Given the description of an element on the screen output the (x, y) to click on. 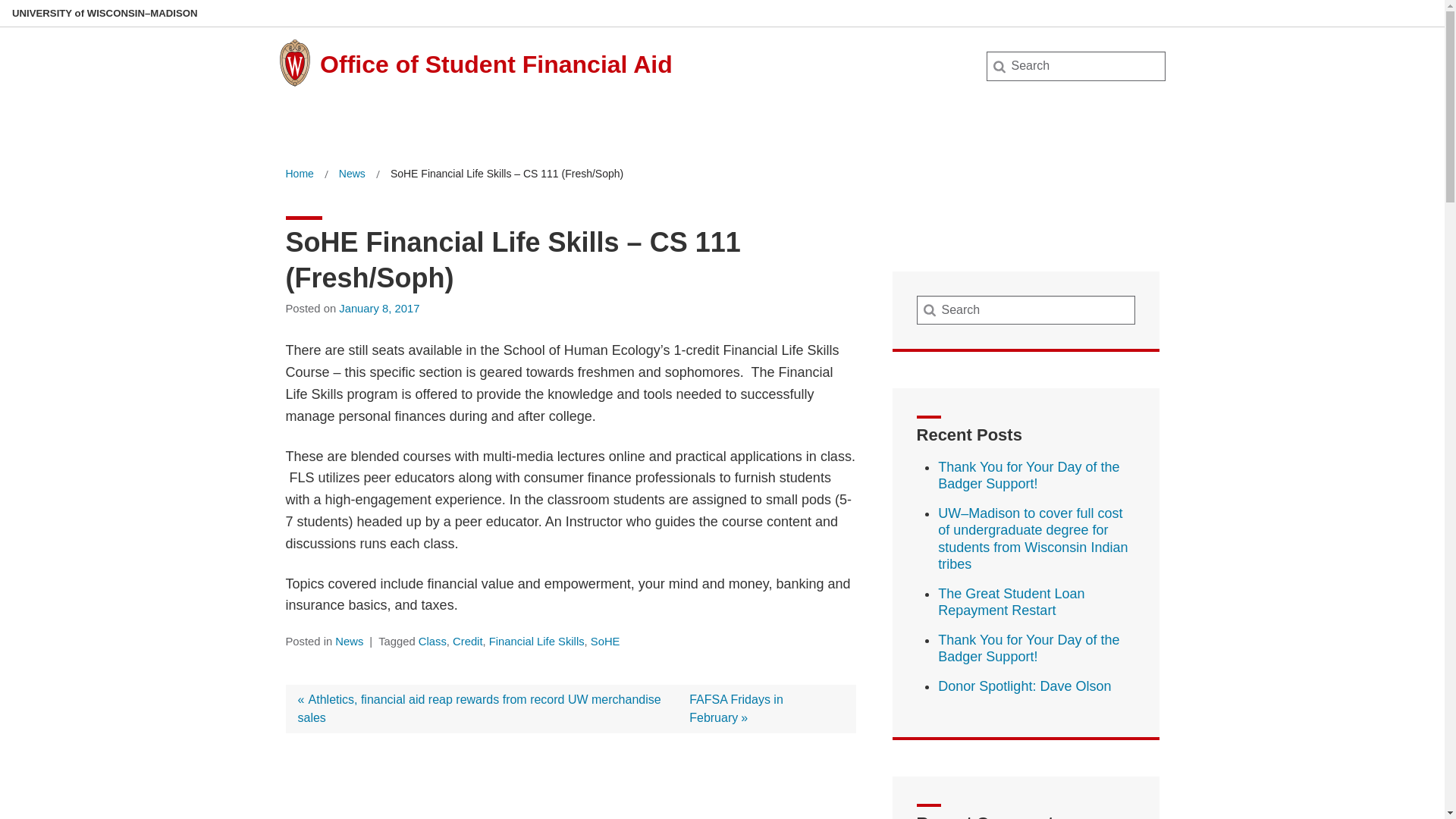
Class (735, 707)
News (432, 641)
Financial Life Skills (348, 641)
Donor Spotlight: Dave Olson (537, 641)
Skip to main content (1023, 685)
Thank You for Your Day of the Badger Support! (3, 3)
Office of Student Financial Aid (1028, 648)
Thank You for Your Day of the Badger Support! (496, 63)
Search (1028, 475)
Home (37, 16)
January 8, 2017 (299, 173)
News (379, 308)
Home (352, 173)
Credit (299, 173)
